Given the description of an element on the screen output the (x, y) to click on. 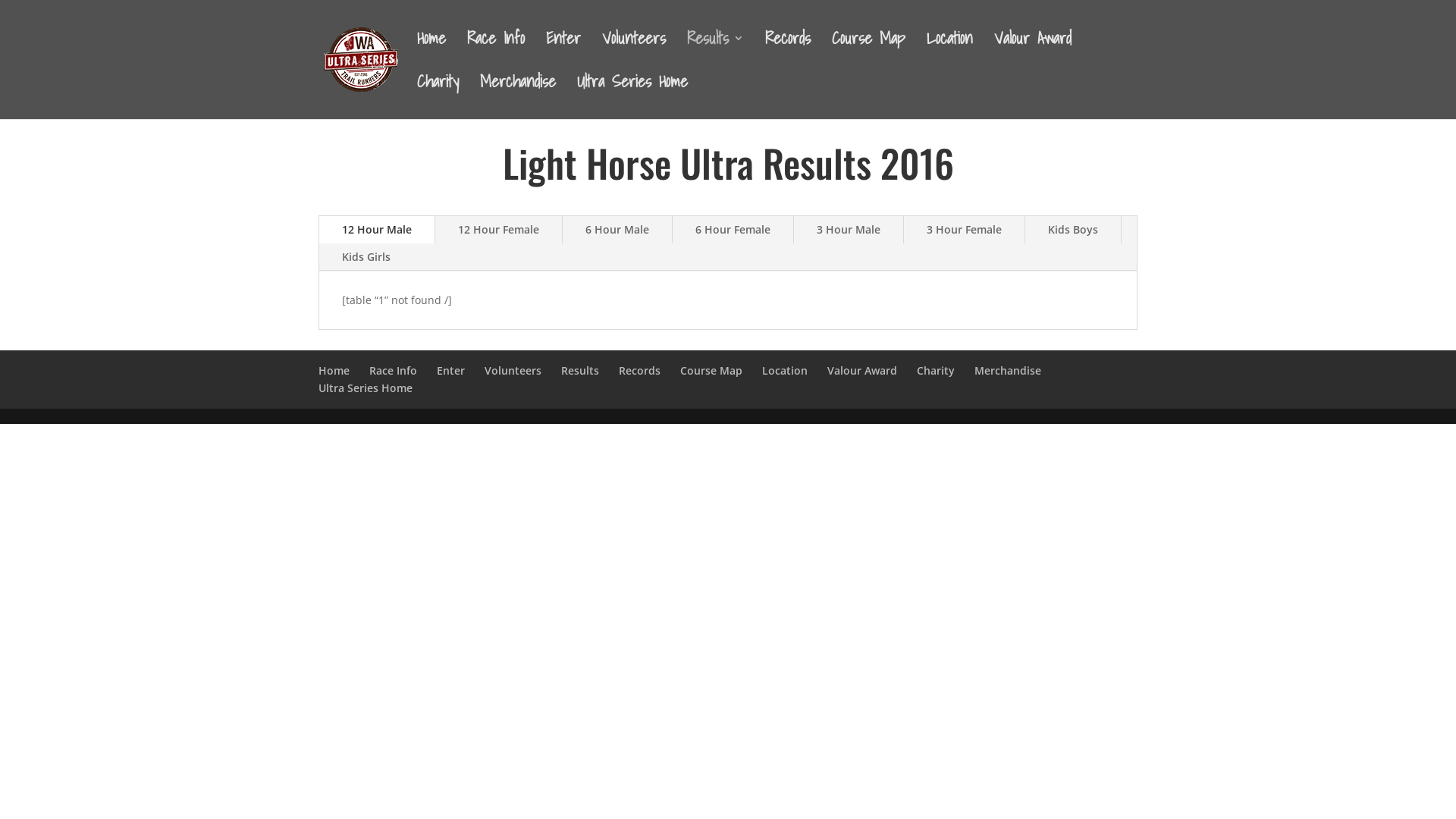
Enter Element type: text (563, 53)
Ultra Series Home Element type: text (632, 97)
Volunteers Element type: text (512, 370)
3 Hour Female Element type: text (963, 229)
Merchandise Element type: text (517, 97)
Course Map Element type: text (868, 53)
Charity Element type: text (437, 97)
Records Element type: text (639, 370)
Kids Girls Element type: text (366, 256)
12 Hour Male Element type: text (376, 229)
Enter Element type: text (450, 370)
6 Hour Female Element type: text (732, 229)
Charity Element type: text (935, 370)
Valour Award Element type: text (1032, 53)
Results Element type: text (580, 370)
Kids Boys Element type: text (1072, 229)
Location Element type: text (784, 370)
Records Element type: text (787, 53)
Volunteers Element type: text (633, 53)
Race Info Element type: text (495, 53)
Valour Award Element type: text (862, 370)
Merchandise Element type: text (1007, 370)
Ultra Series Home Element type: text (365, 387)
Home Element type: text (333, 370)
Course Map Element type: text (711, 370)
Home Element type: text (431, 53)
3 Hour Male Element type: text (848, 229)
Location Element type: text (949, 53)
12 Hour Female Element type: text (498, 229)
Results Element type: text (715, 53)
6 Hour Male Element type: text (616, 229)
Race Info Element type: text (393, 370)
